Given the description of an element on the screen output the (x, y) to click on. 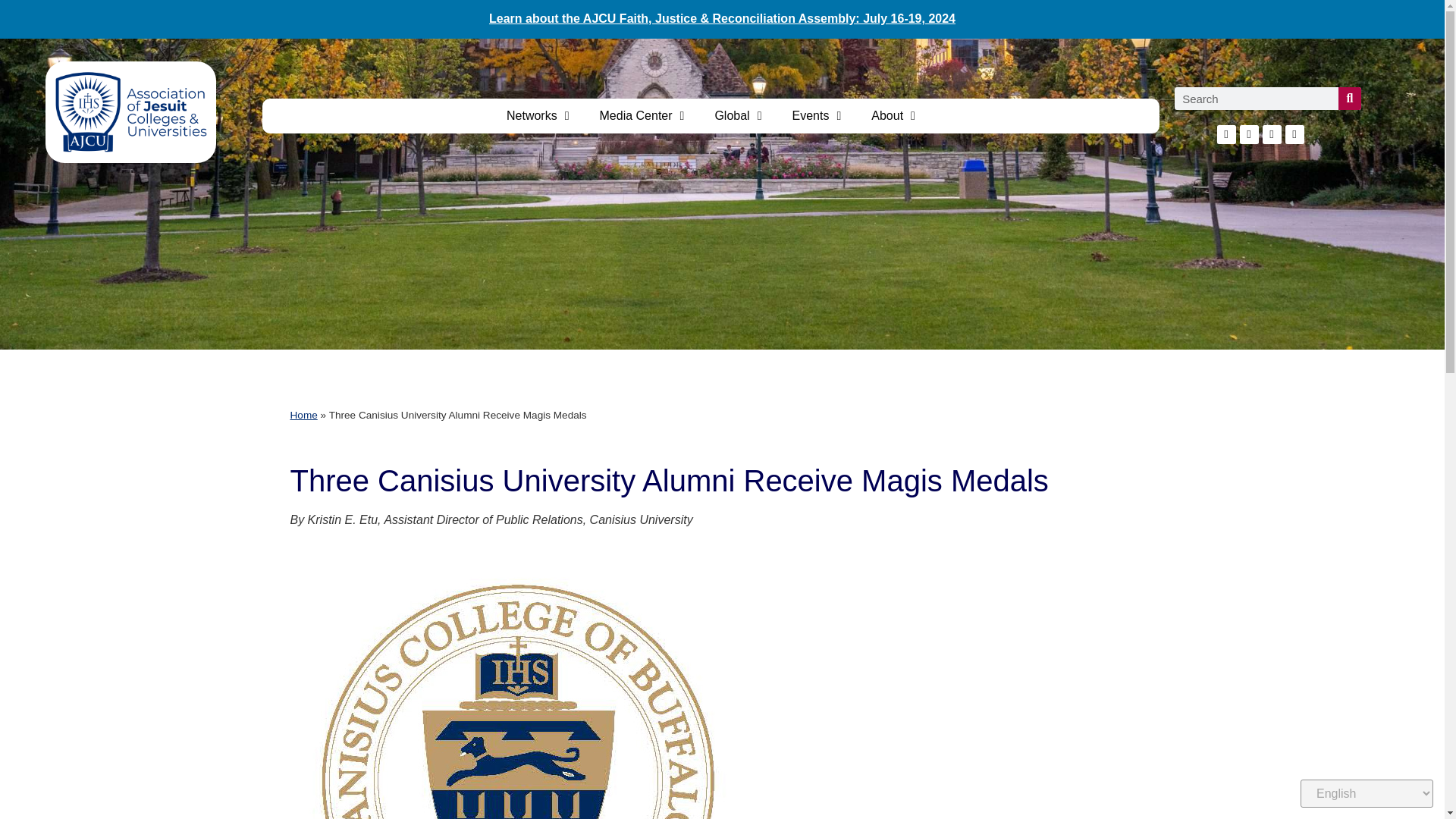
Global (737, 115)
Networks (538, 115)
Media Center (642, 115)
Events (817, 115)
About (893, 115)
